Given the description of an element on the screen output the (x, y) to click on. 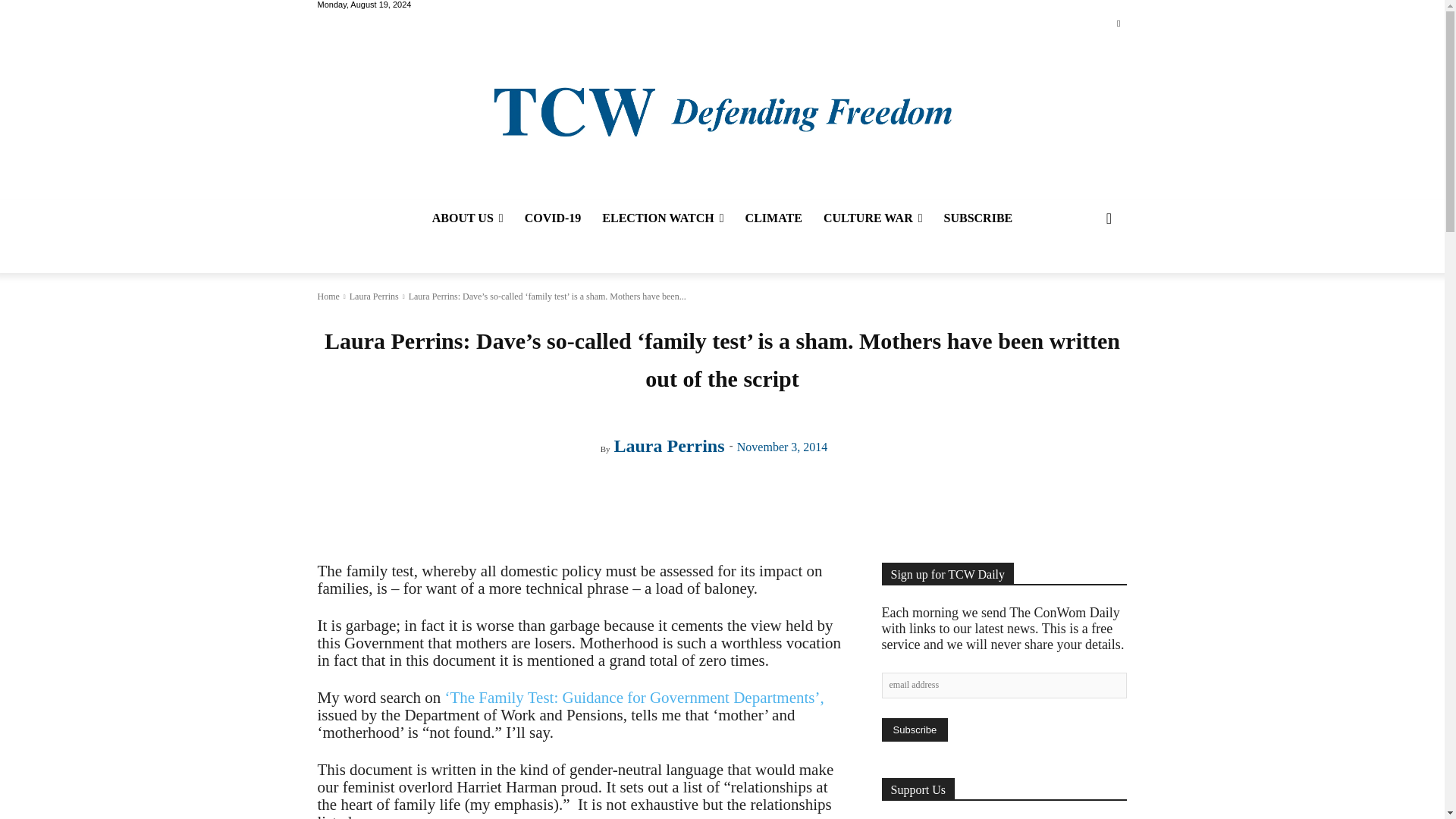
ELECTION WATCH (662, 217)
ABOUT US (467, 217)
The Conservative Woman (721, 110)
Twitter (1117, 23)
CULTURE WAR (872, 217)
COVID-19 (552, 217)
CLIMATE (773, 217)
Subscribe (913, 730)
View all posts in Laura Perrins (373, 296)
